Given the description of an element on the screen output the (x, y) to click on. 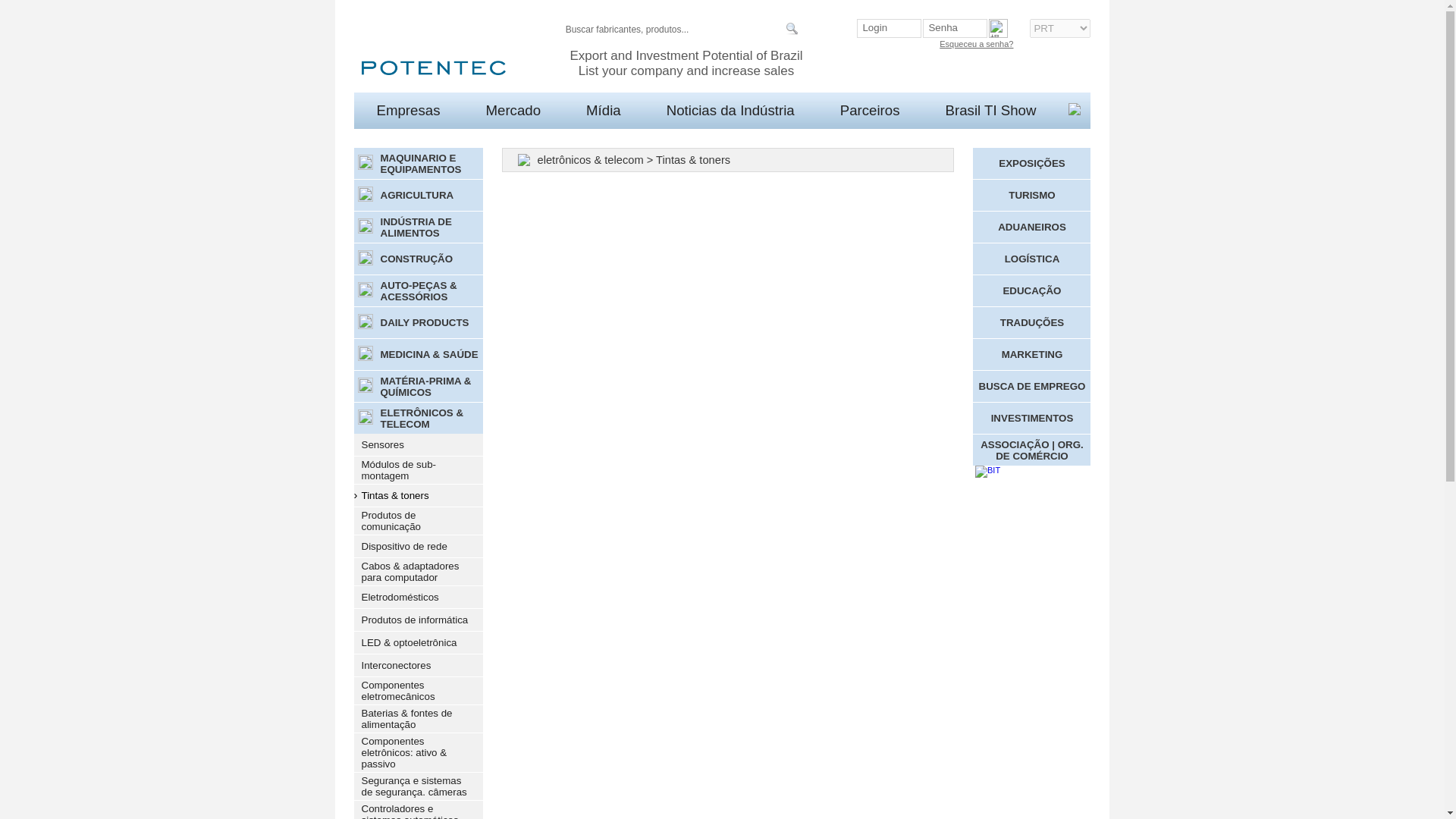
ENTRE AQUI (931, 68)
Empresas (407, 109)
Parceiros (869, 109)
Brasil TI Show (990, 109)
Esqueceu a senha? (976, 43)
Mercado (512, 109)
Buscar fabricantes, produtos... (676, 29)
